Given the description of an element on the screen output the (x, y) to click on. 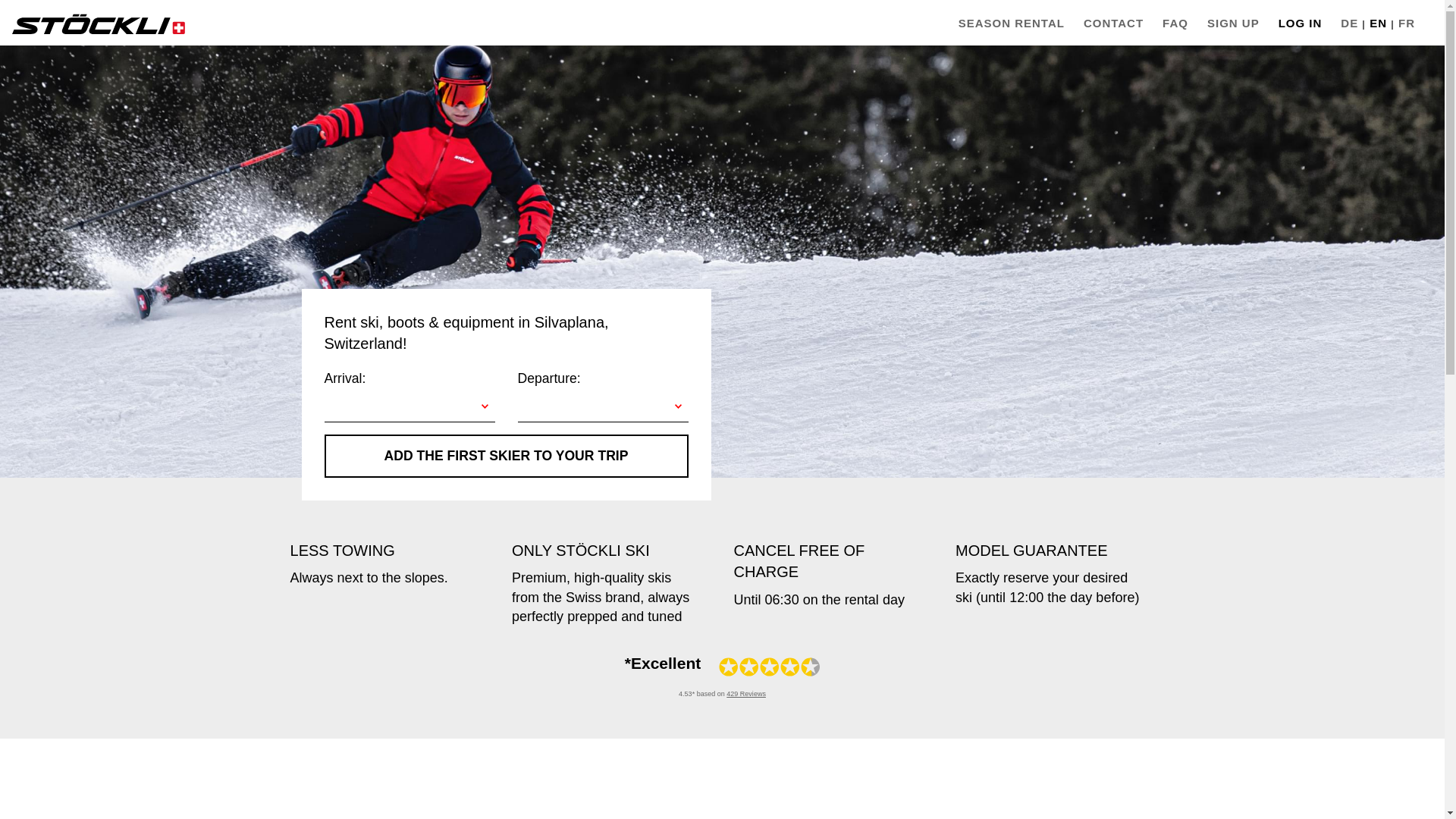
CONTACT (1114, 22)
SEASON RENTAL (1012, 22)
LOG IN (1302, 22)
DE (1345, 22)
FAQ (1176, 22)
EN (1372, 22)
429 Reviews (745, 693)
ADD THE FIRST SKIER TO YOUR TRIP (506, 455)
FR (1401, 22)
SIGN UP (1235, 22)
